Given the description of an element on the screen output the (x, y) to click on. 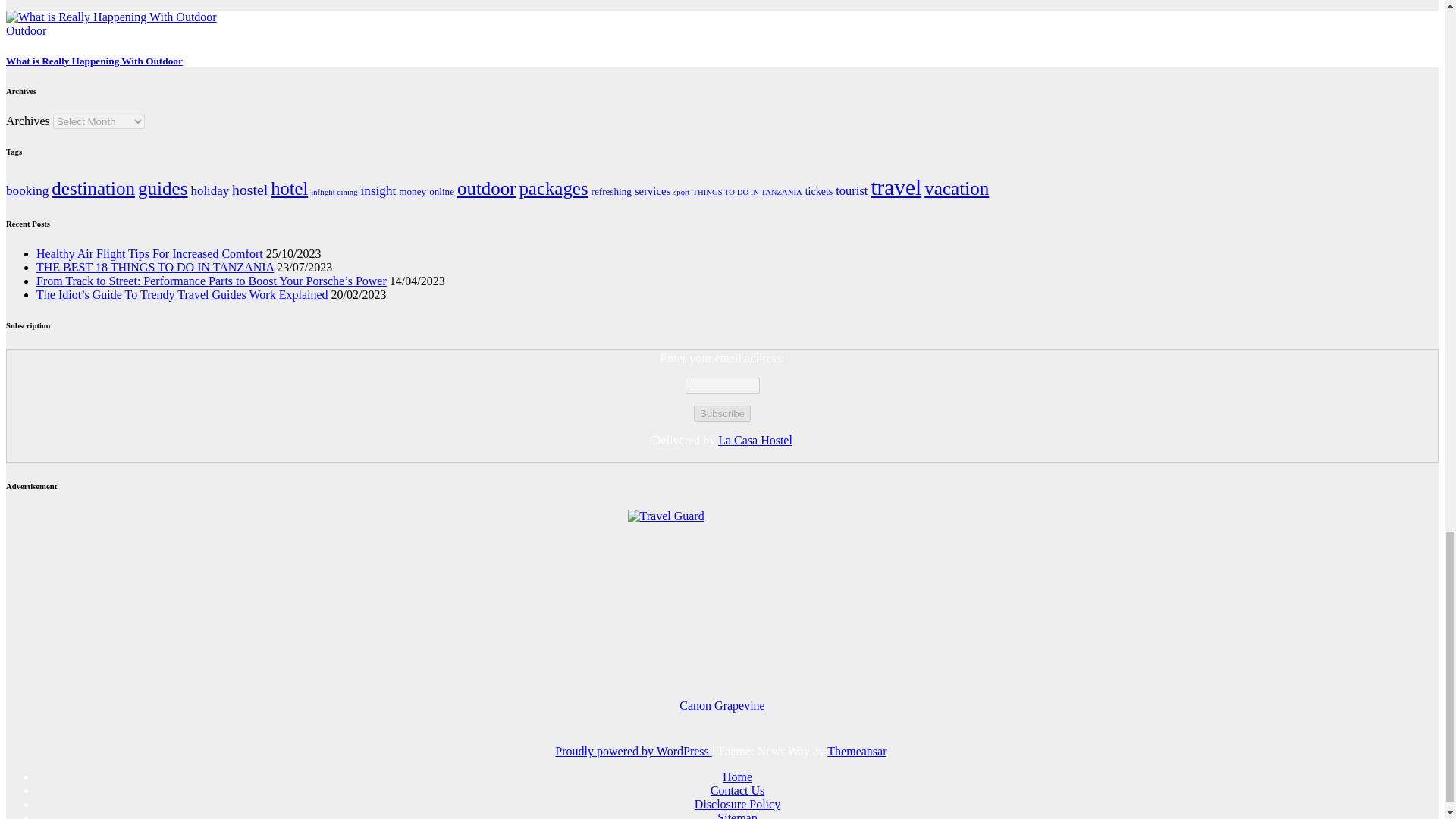
Home (737, 776)
Subscribe (722, 413)
Travel Guard (721, 604)
